Given the description of an element on the screen output the (x, y) to click on. 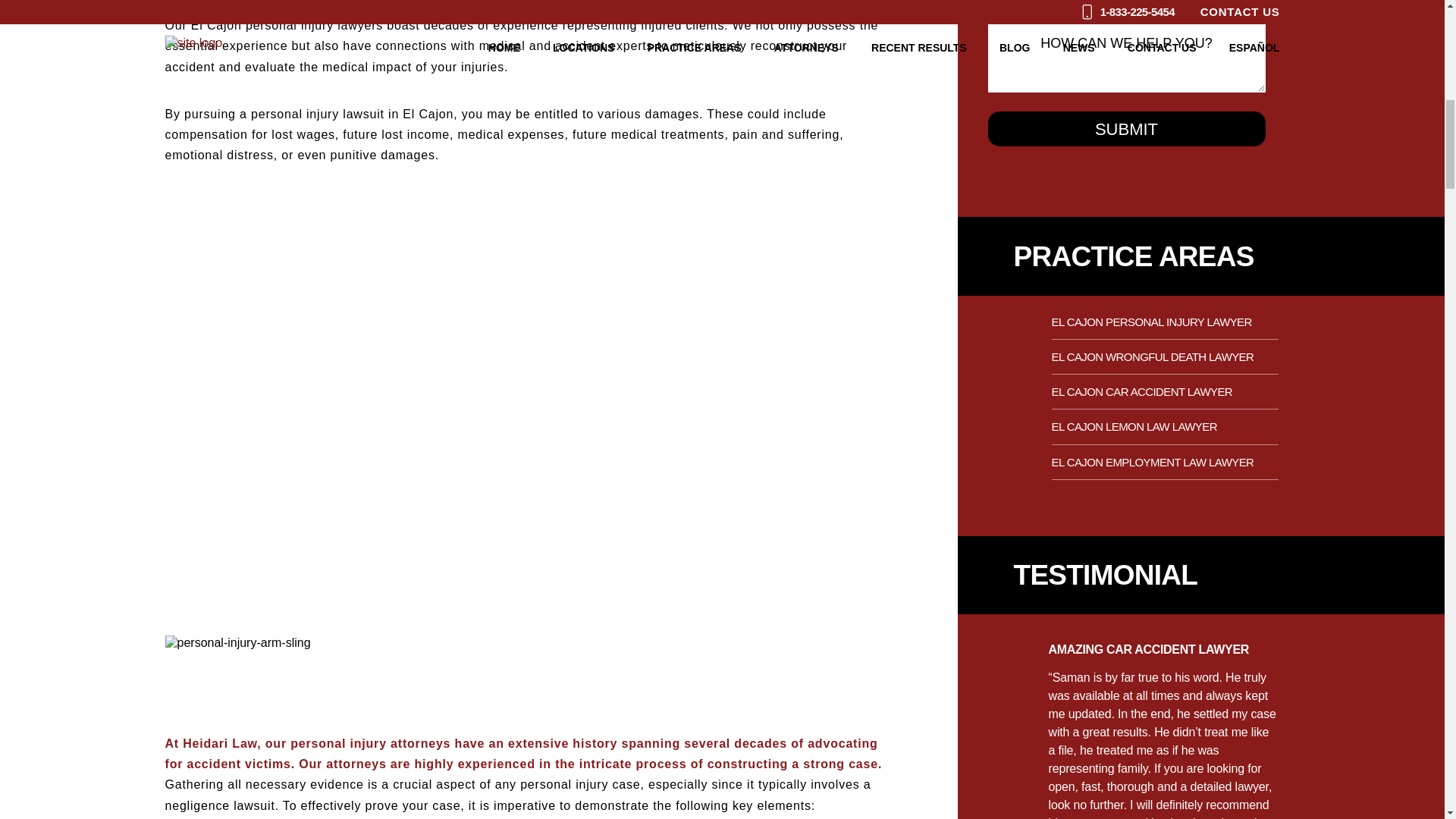
SUBMIT (1126, 128)
